Given the description of an element on the screen output the (x, y) to click on. 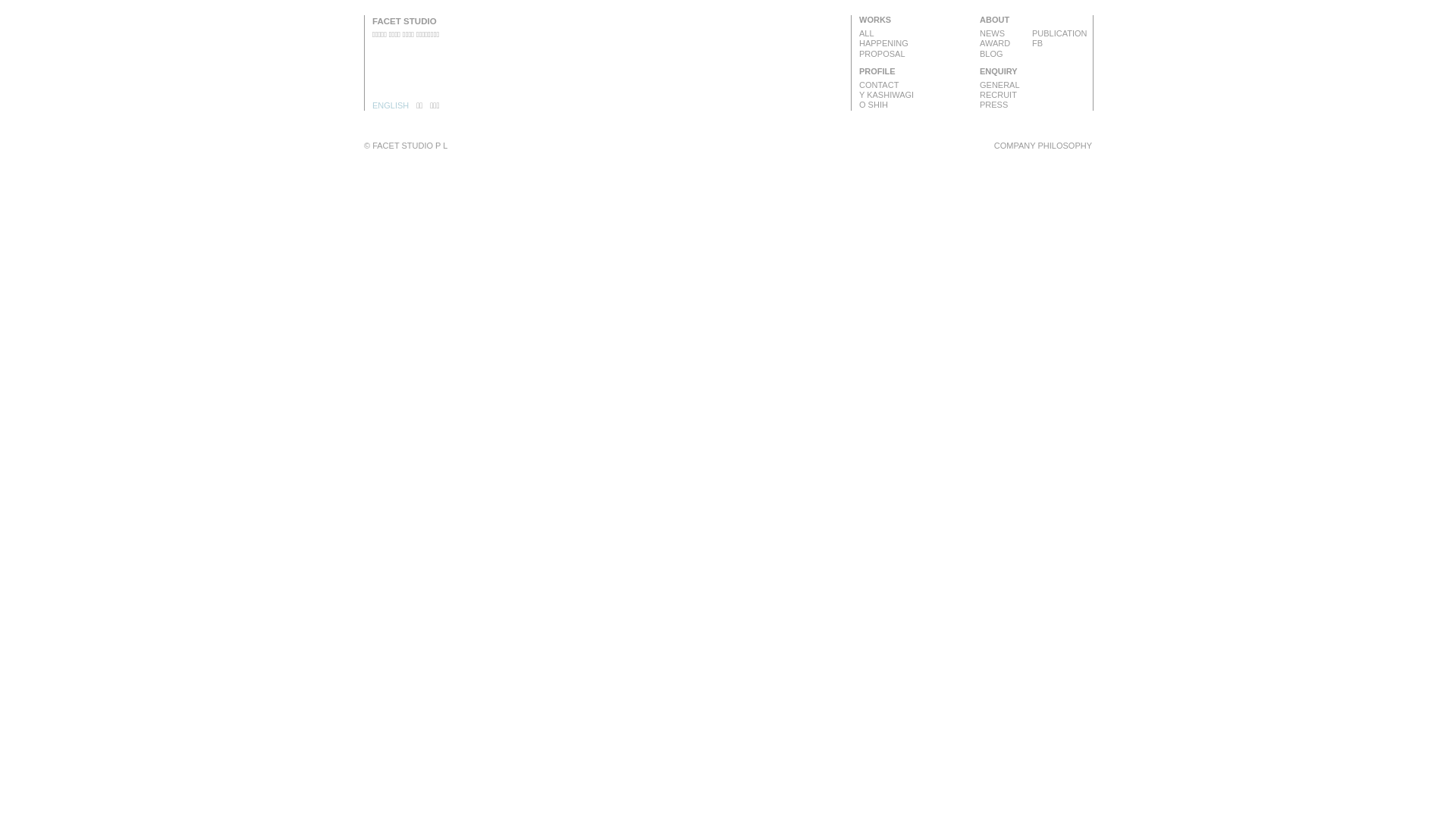
FACET STUDIO Element type: text (404, 20)
CONTACT Element type: text (915, 85)
ALL Element type: text (915, 33)
ENGLISH Element type: text (390, 105)
PUBLICATION Element type: text (1060, 33)
FB Element type: text (1060, 43)
GENERAL Element type: text (1035, 85)
Y KASHIWAGI Element type: text (915, 95)
BLOG Element type: text (1007, 54)
HAPPENING Element type: text (915, 43)
PROPOSAL Element type: text (915, 54)
AWARD Element type: text (1007, 43)
RECRUIT Element type: text (1035, 95)
COMPANY PHILOSOPHY Element type: text (1043, 145)
PRESS Element type: text (1035, 104)
O SHIH Element type: text (915, 104)
NEWS Element type: text (1007, 33)
